Given the description of an element on the screen output the (x, y) to click on. 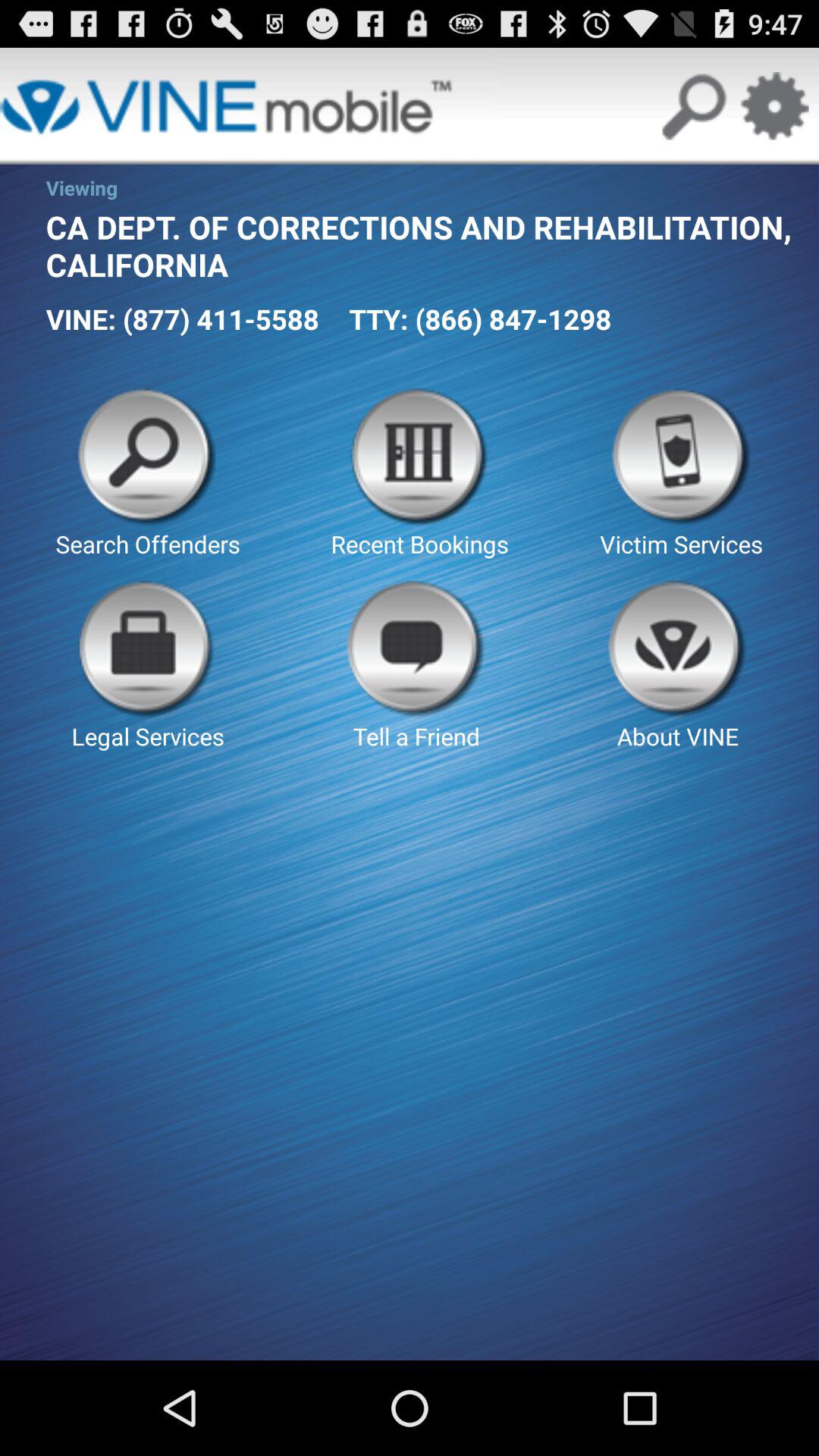
click icon to the right of the tell a friend item (677, 666)
